Given the description of an element on the screen output the (x, y) to click on. 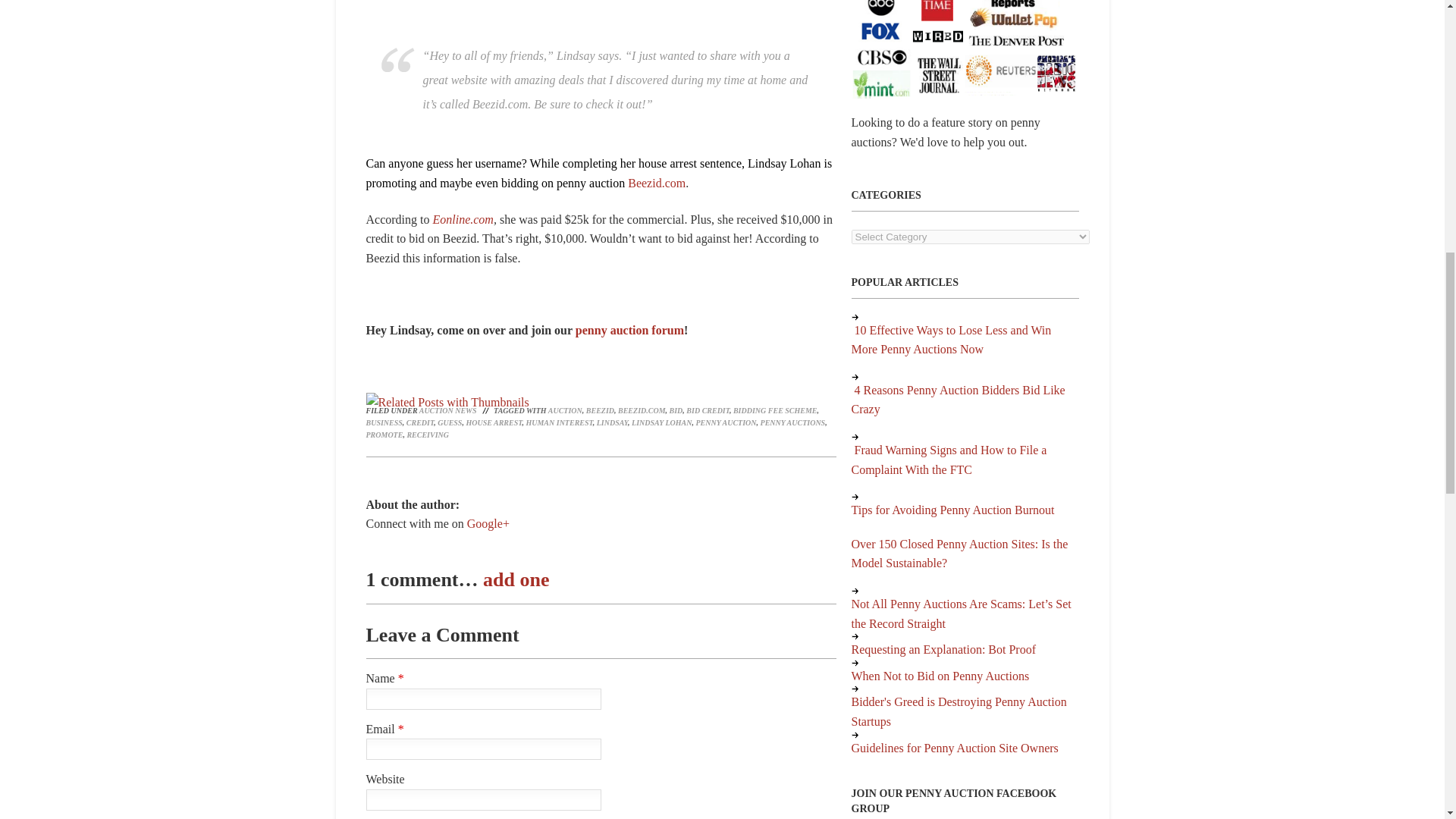
penny auctions (629, 329)
penny auction watch seen on media (964, 49)
bulletside (853, 376)
4 Reasons Penny Auction Bidders Bid Like Crazy (957, 400)
eonline (462, 219)
bulletside (853, 317)
